Given the description of an element on the screen output the (x, y) to click on. 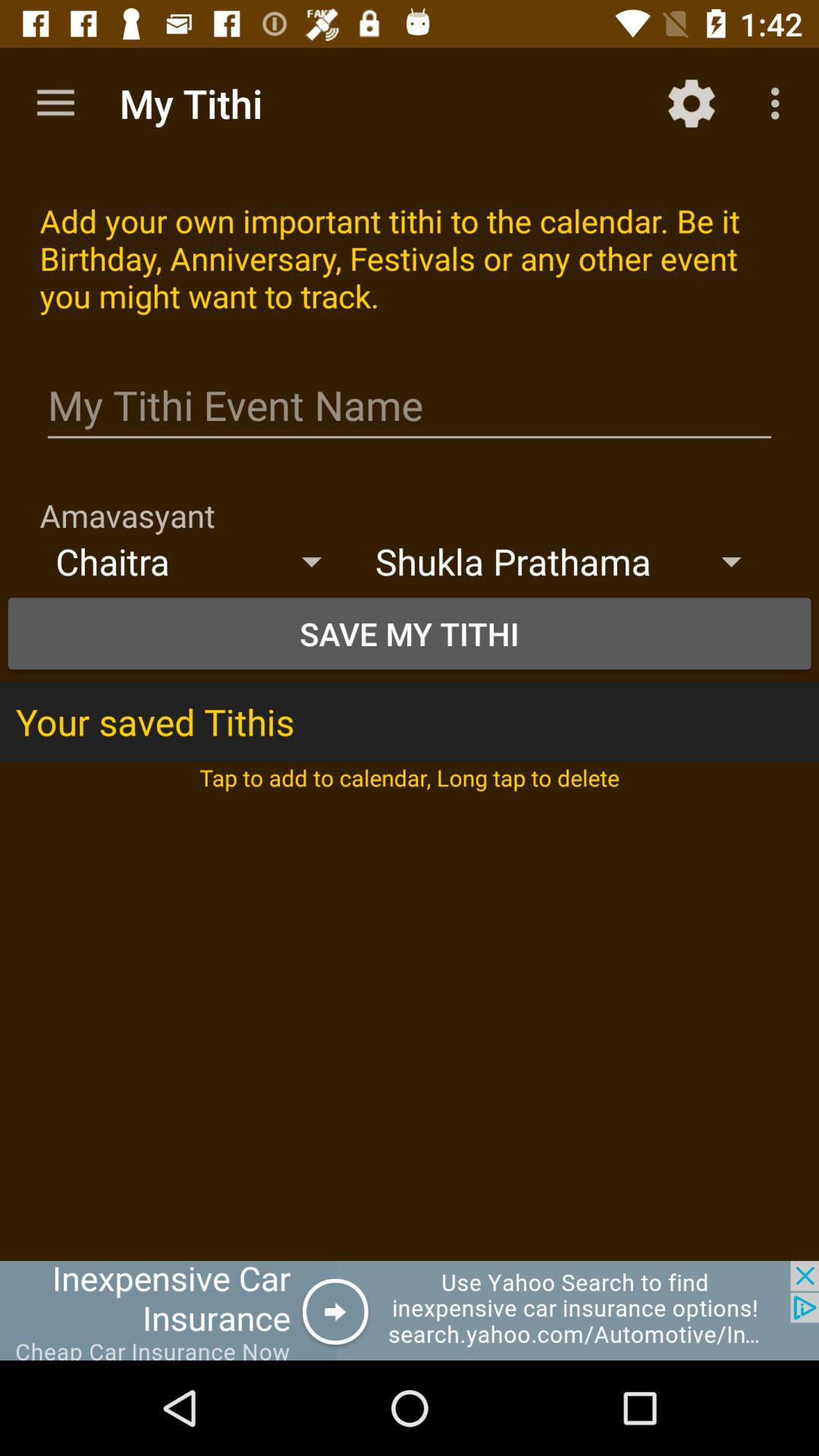
advertisement about inexpensive car insurance (409, 1310)
